Given the description of an element on the screen output the (x, y) to click on. 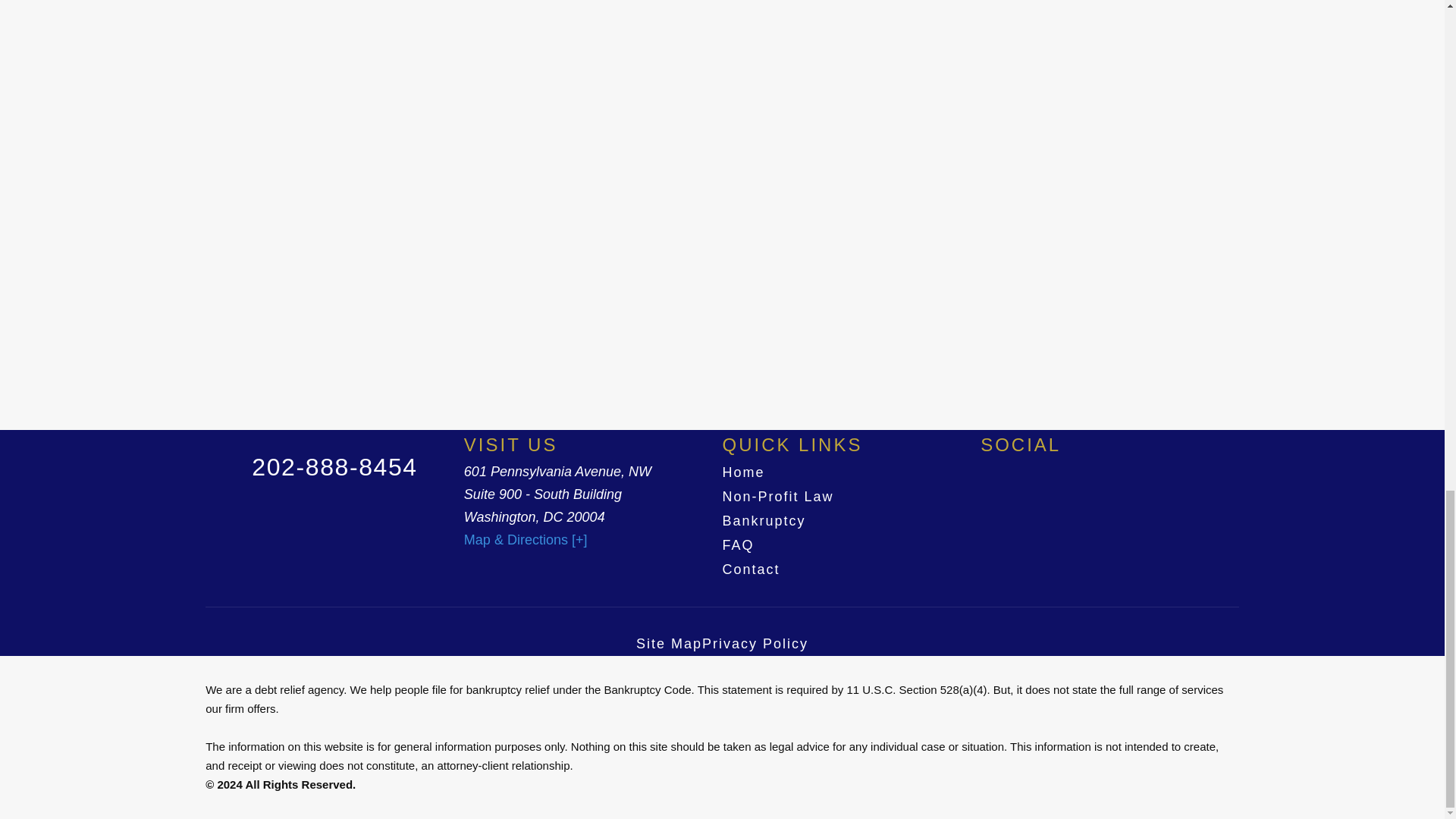
LinkedIn (986, 467)
Facebook (1000, 467)
YouTube (1028, 467)
Twitter (1014, 467)
